Given the description of an element on the screen output the (x, y) to click on. 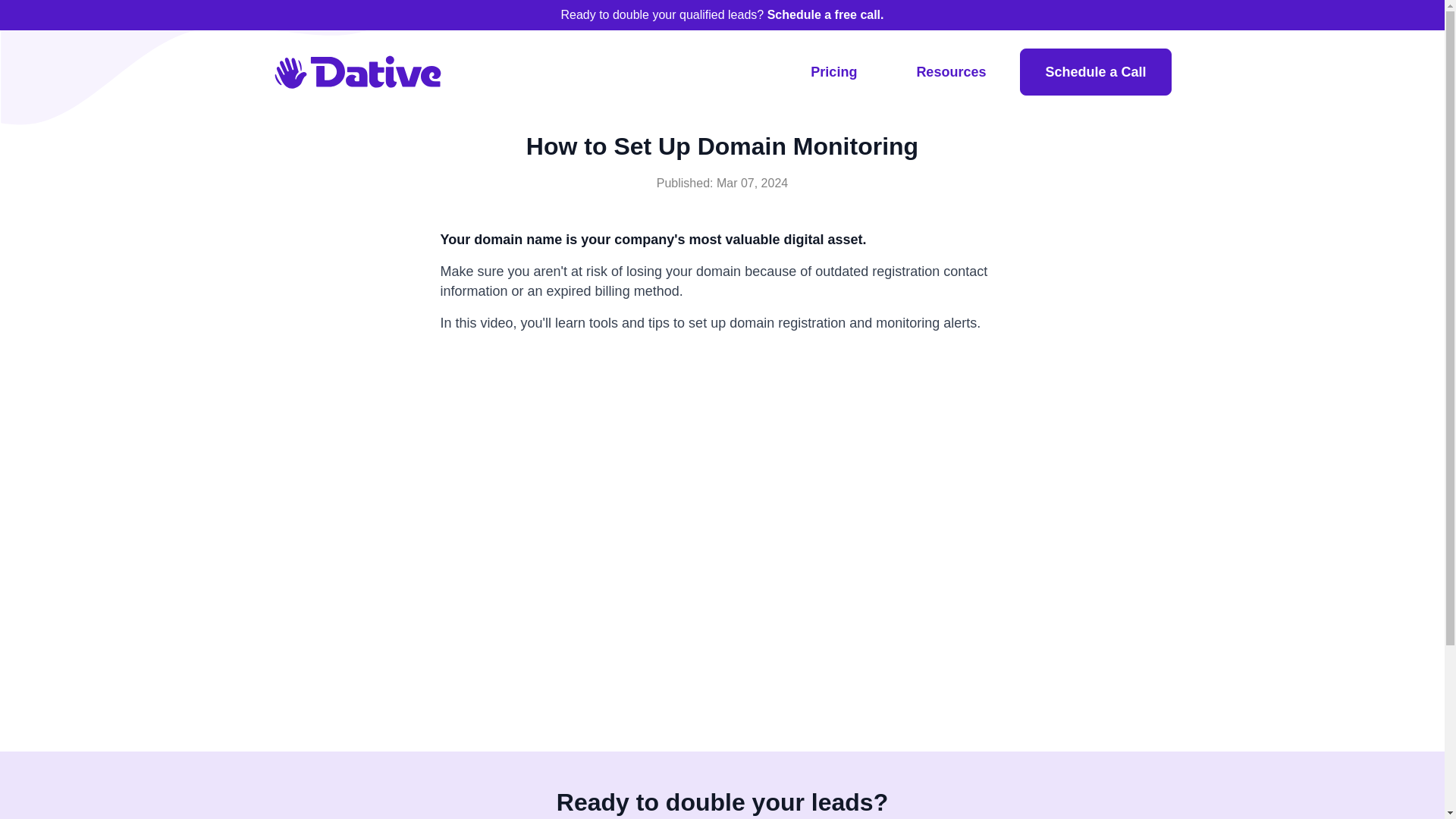
Schedule a free call. (825, 14)
Pricing (834, 71)
Dative (357, 71)
Schedule a Call (1095, 71)
Resources (950, 71)
